Given the description of an element on the screen output the (x, y) to click on. 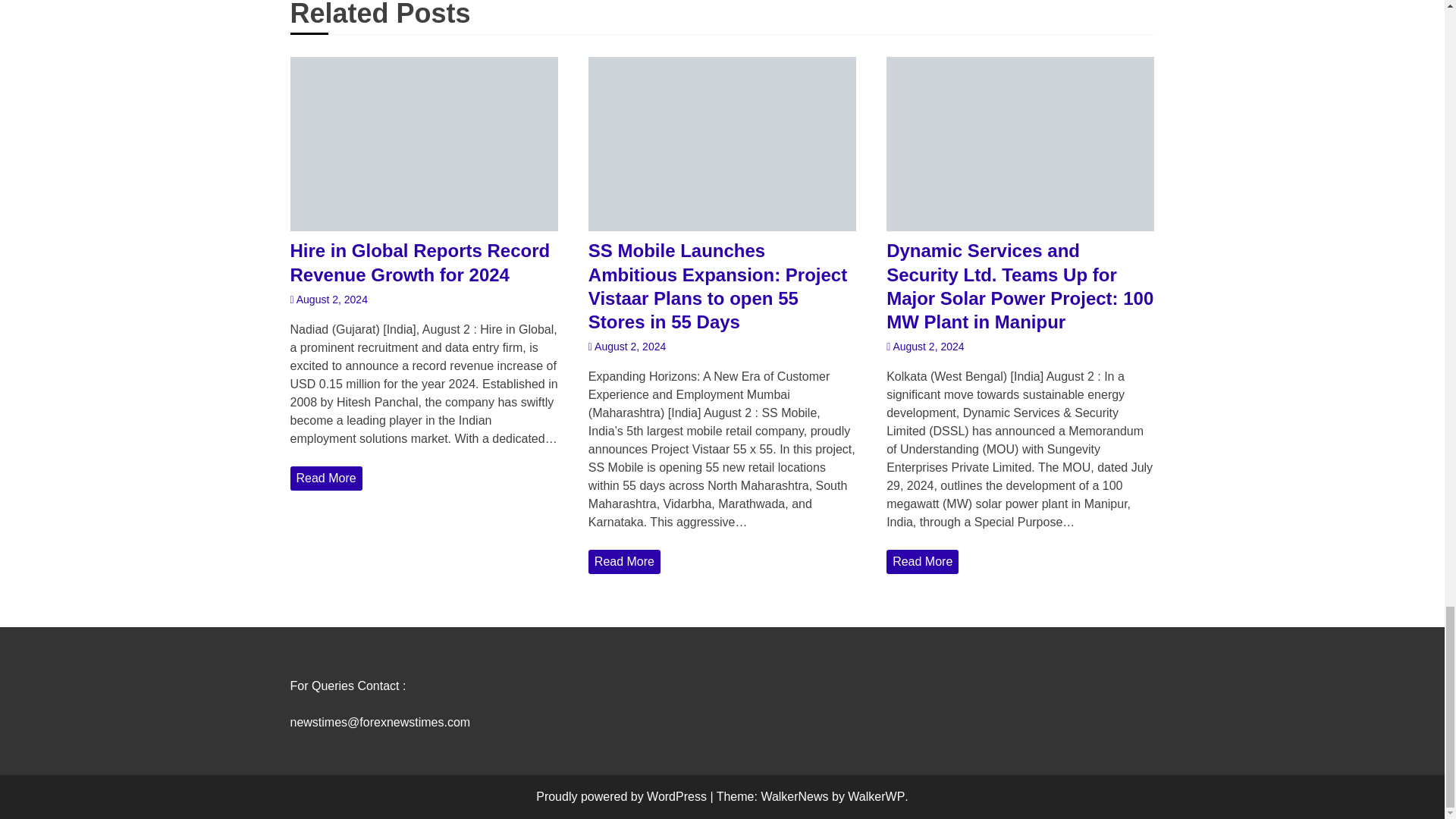
Hire in Global Reports Record Revenue Growth for 2024 (423, 262)
August 2, 2024 (327, 299)
Read More (325, 478)
